Given the description of an element on the screen output the (x, y) to click on. 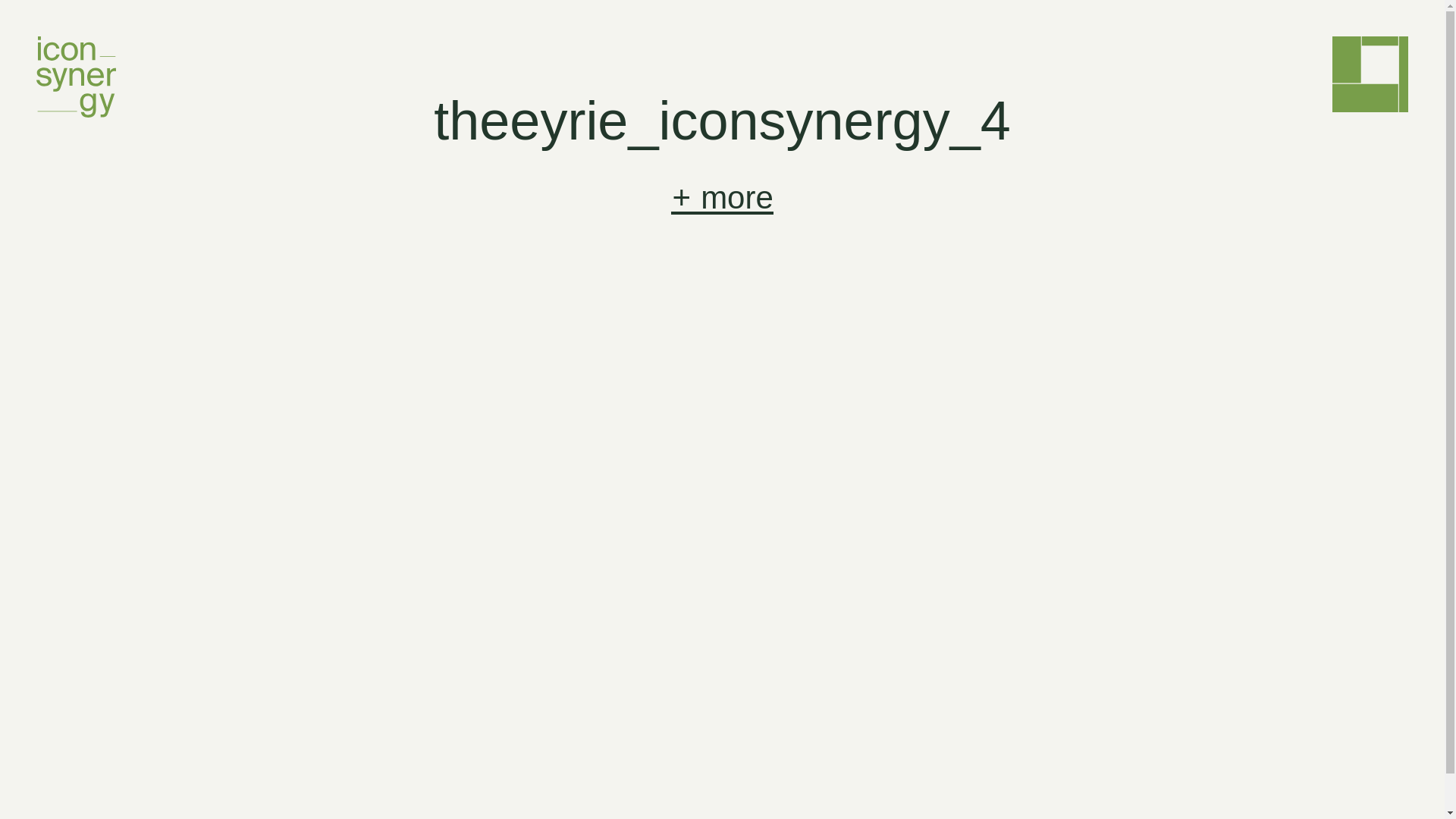
+ more Element type: text (722, 197)
